Given the description of an element on the screen output the (x, y) to click on. 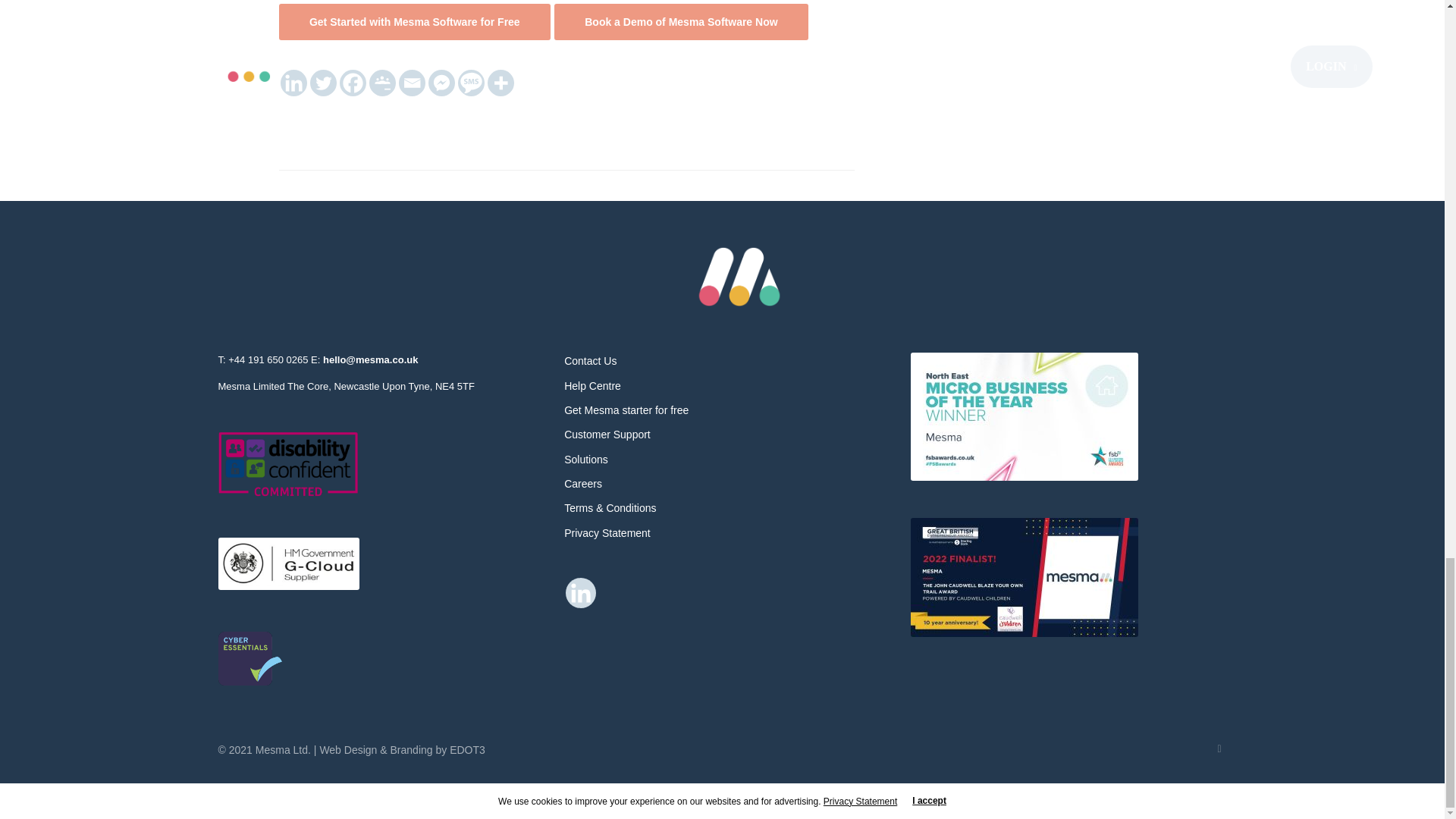
Mesma Quality Assurance Software and Advisory Support (739, 276)
Twitter (323, 82)
Linkedin (294, 82)
More (500, 82)
Google Classroom (382, 82)
Facebook (352, 82)
Linkedin (580, 593)
Email (411, 82)
SMS (471, 82)
